Given the description of an element on the screen output the (x, y) to click on. 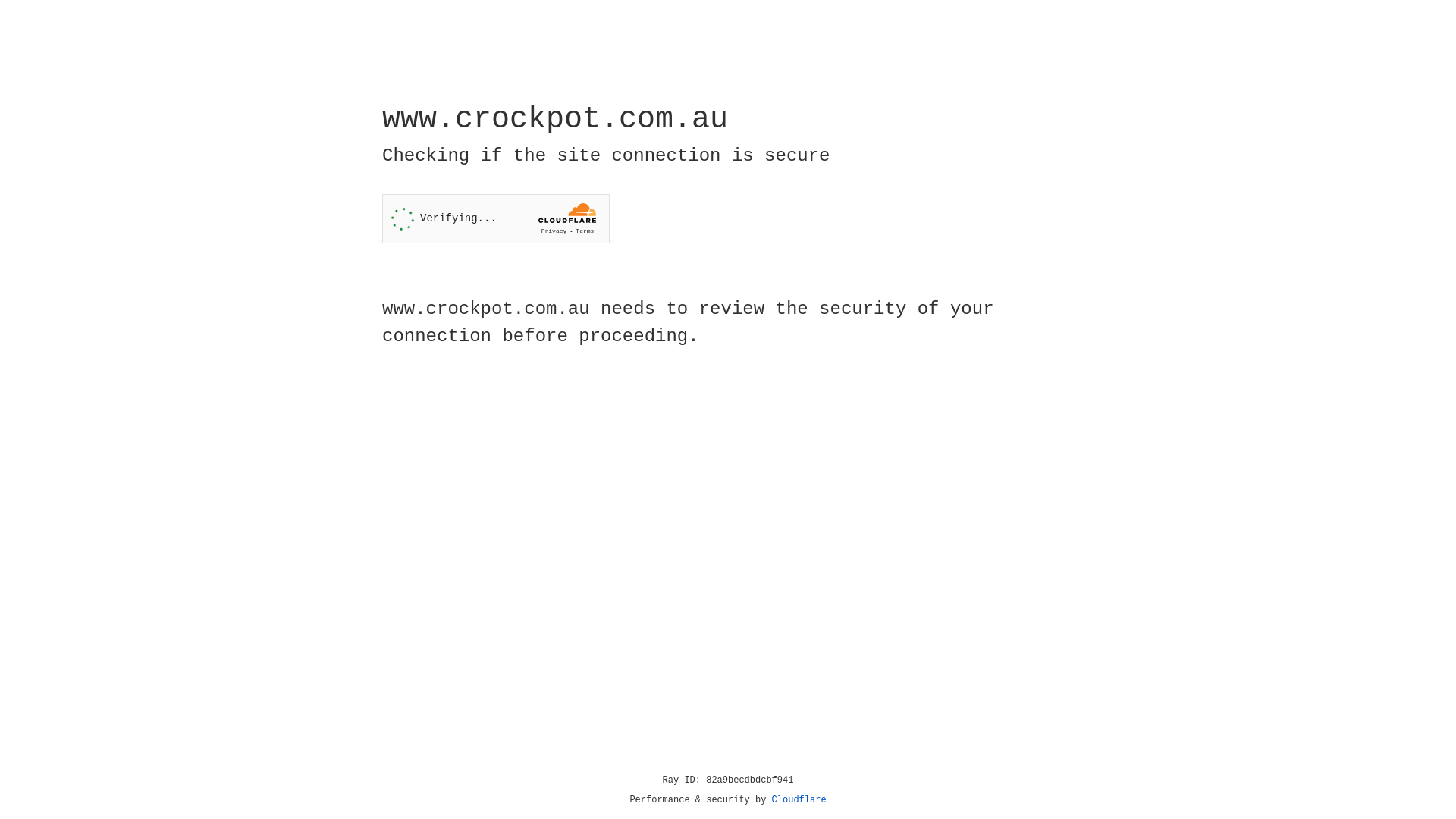
Cloudflare Element type: text (798, 799)
Widget containing a Cloudflare security challenge Element type: hover (495, 218)
